Given the description of an element on the screen output the (x, y) to click on. 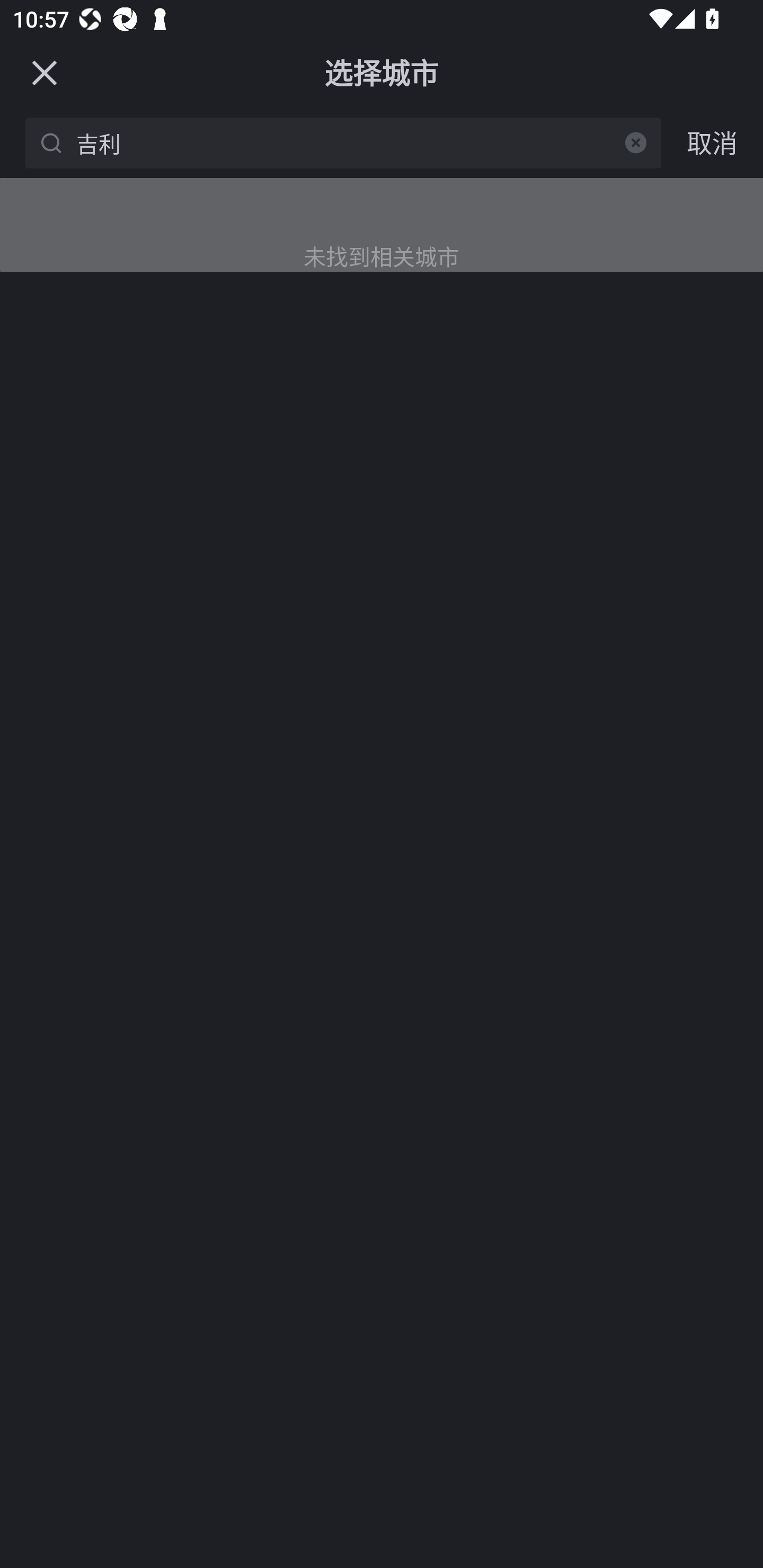
 (44, 71)
取消 (711, 142)
吉利 (346, 142)
 (635, 142)
